Given the description of an element on the screen output the (x, y) to click on. 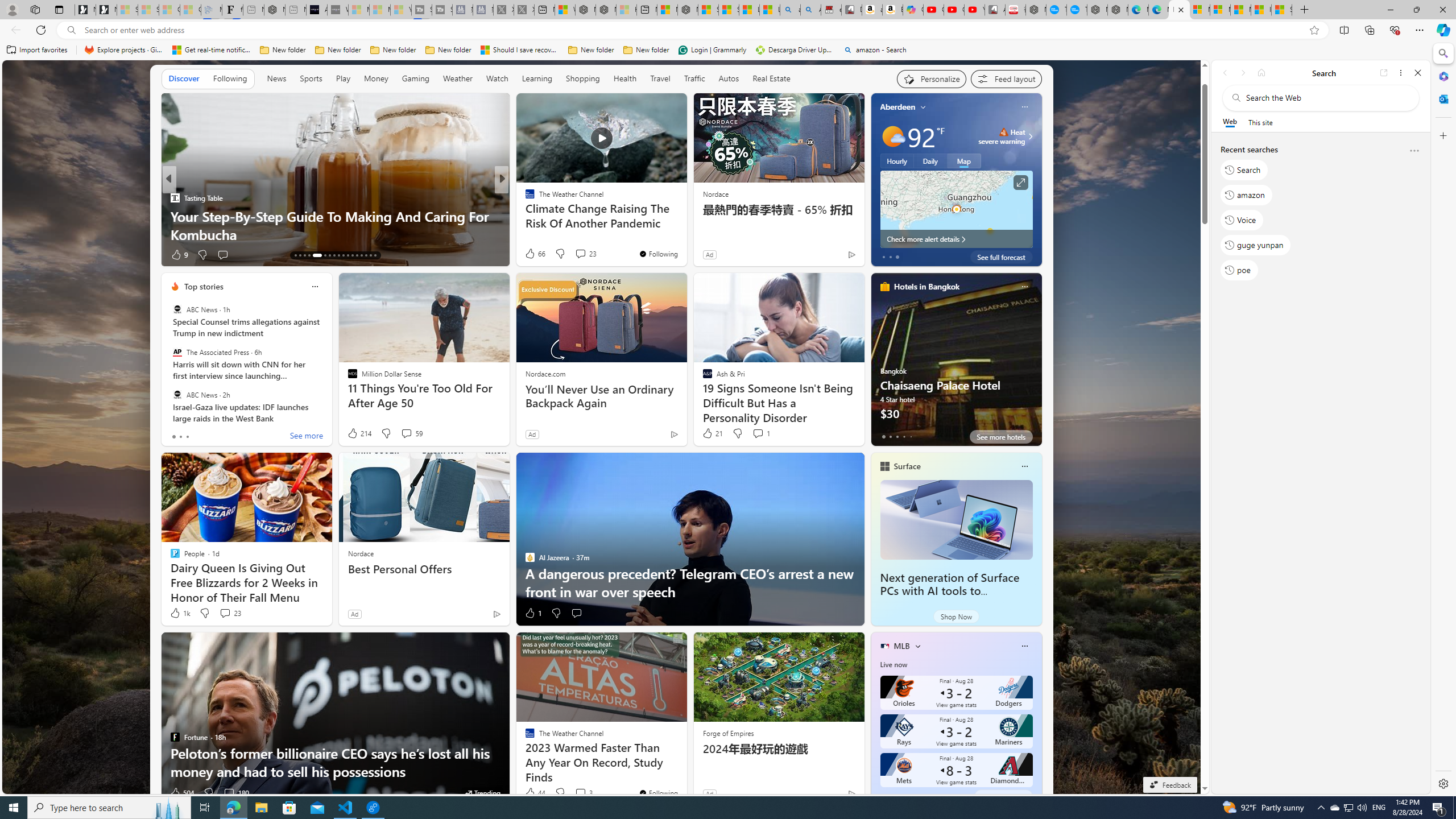
AutomationID: tab-18 (322, 255)
Chaisaeng Palace Hotel (956, 363)
Import favorites (36, 49)
AutomationID: tab-50 (366, 255)
Mostly sunny (892, 136)
See more MLB (1003, 796)
Click to see more information (1020, 182)
AutomationID: tab-49 (361, 255)
amazon (1246, 195)
AutomationID: tab-13 (295, 255)
